Given the description of an element on the screen output the (x, y) to click on. 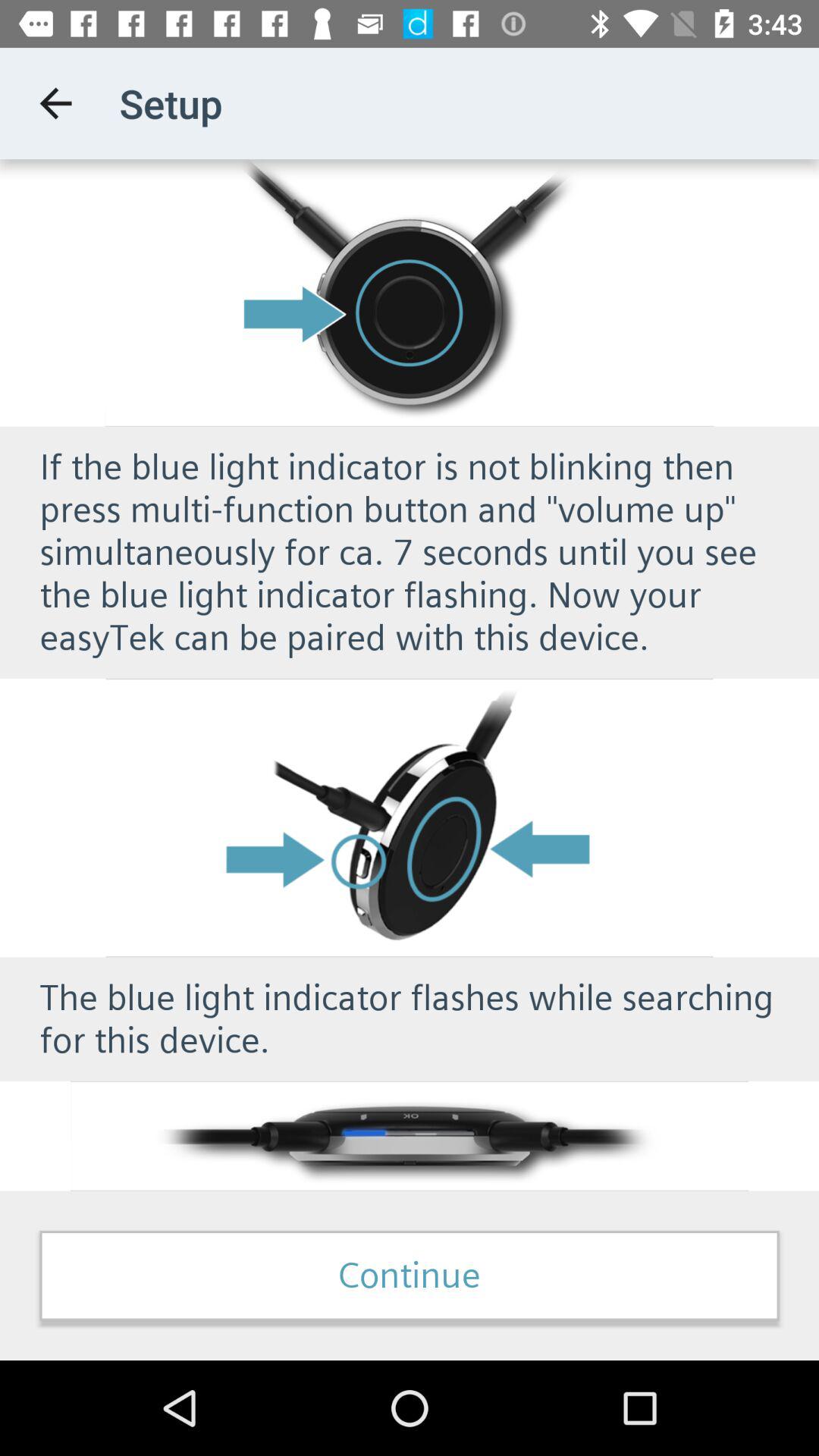
scroll to continue item (409, 1275)
